Given the description of an element on the screen output the (x, y) to click on. 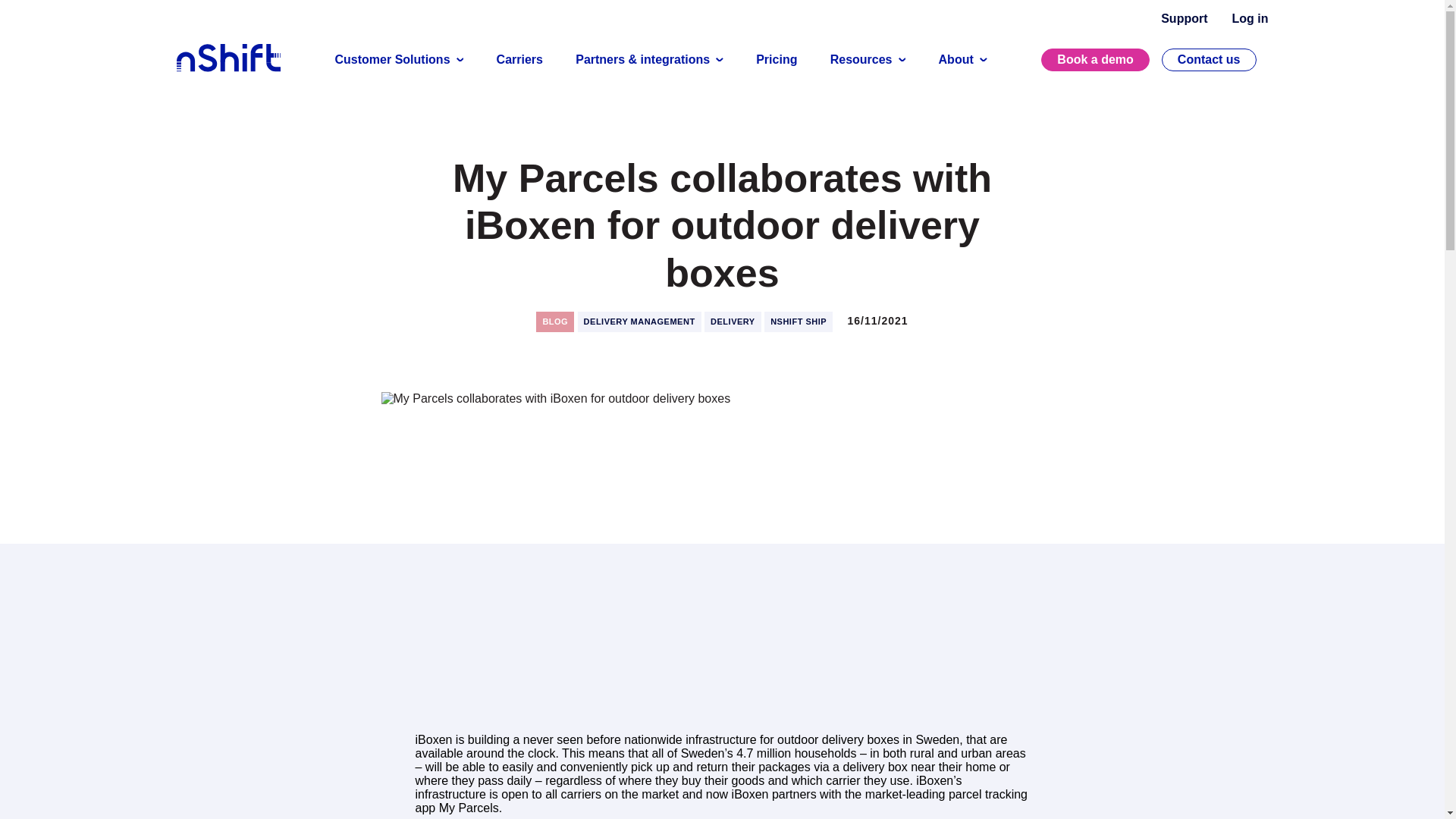
Pricing (776, 60)
Support (1183, 18)
Resources (867, 60)
nShift Ship (798, 322)
Delivery Management (639, 322)
Log in (1249, 18)
Delivery (732, 322)
Blog (554, 322)
Carriers (519, 60)
Customer Solutions (399, 60)
